Given the description of an element on the screen output the (x, y) to click on. 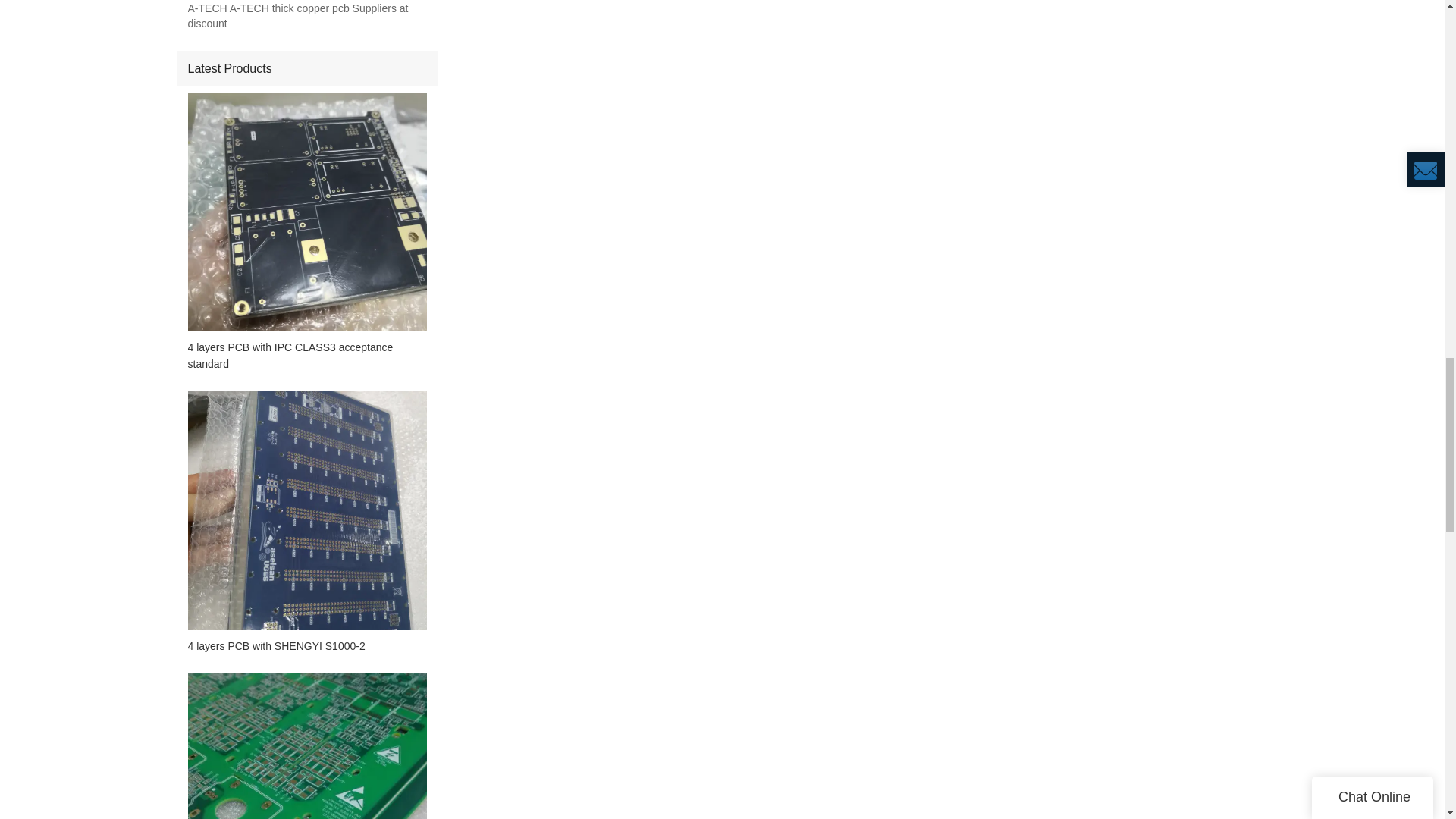
A-TECH A-TECH thick copper pcb Suppliers at discount (306, 16)
4 layers PCB with SHENGYI S1000-2 (306, 646)
4 layers PCB with IPC CLASS3 acceptance standard (306, 355)
